Given the description of an element on the screen output the (x, y) to click on. 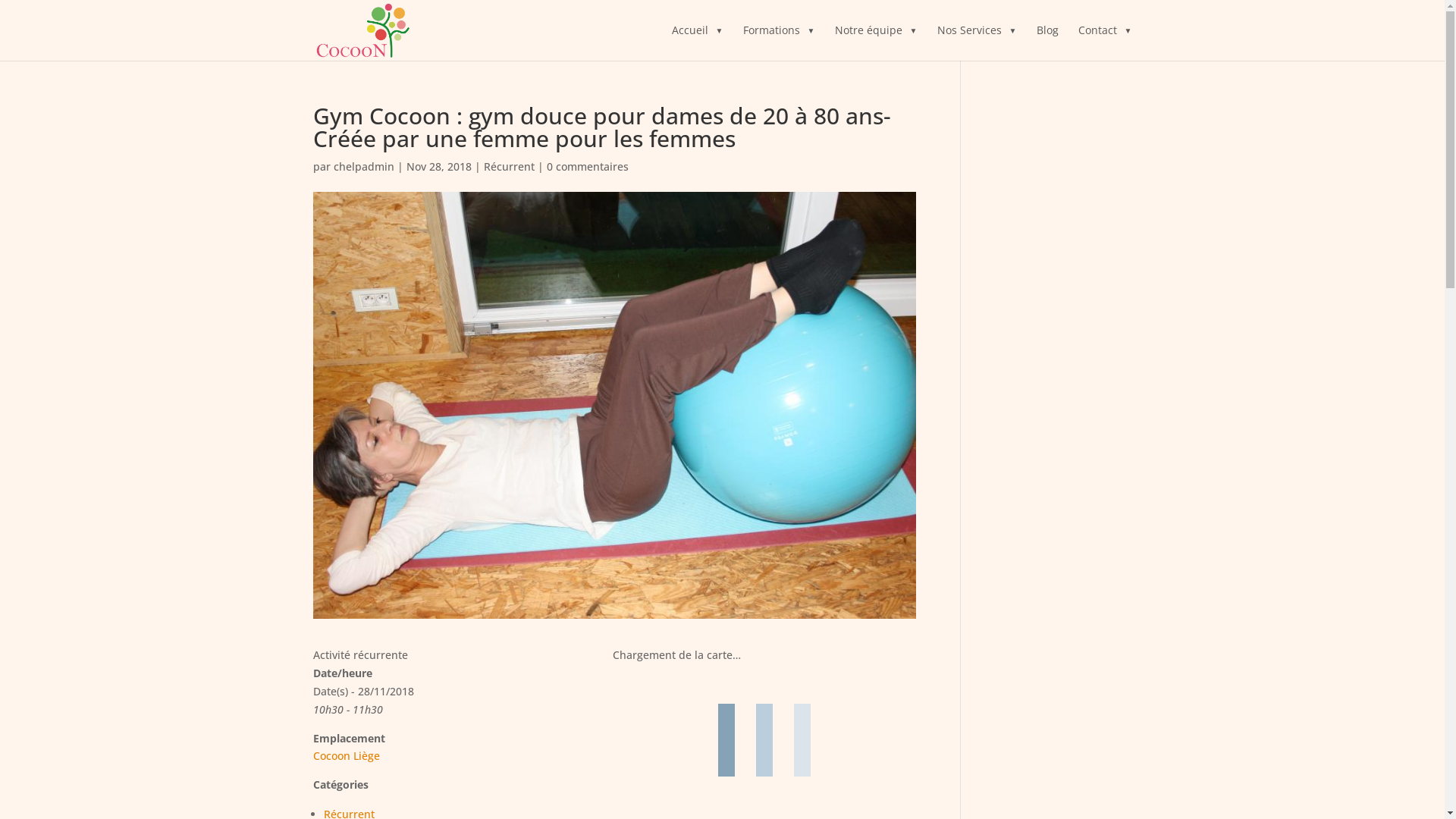
Formations Element type: text (779, 42)
Contact Element type: text (1105, 42)
Blog Element type: text (1046, 42)
Accueil Element type: text (697, 42)
chelpadmin Element type: text (363, 166)
Nos Services Element type: text (976, 42)
0 commentaires Element type: text (586, 166)
